Given the description of an element on the screen output the (x, y) to click on. 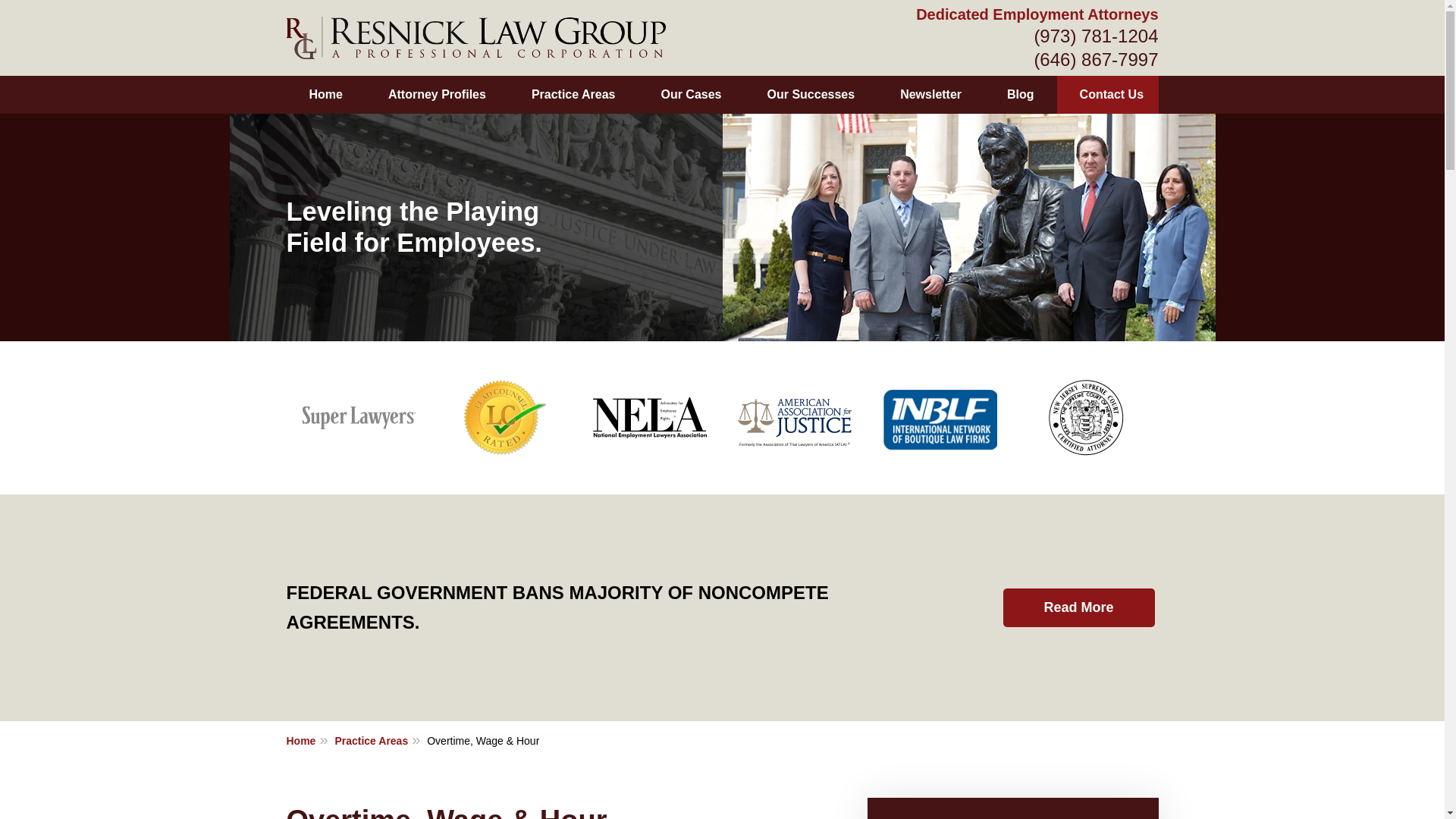
Dedicated Employment Attorneys (1036, 13)
Our Successes (810, 94)
Our Cases (690, 94)
Home (325, 94)
Read More (1078, 608)
Practice Areas (378, 740)
Home (308, 740)
Attorney Profiles (436, 94)
Blog (1020, 94)
Practice Areas (573, 94)
Contact Us (1111, 94)
Newsletter (930, 94)
